Given the description of an element on the screen output the (x, y) to click on. 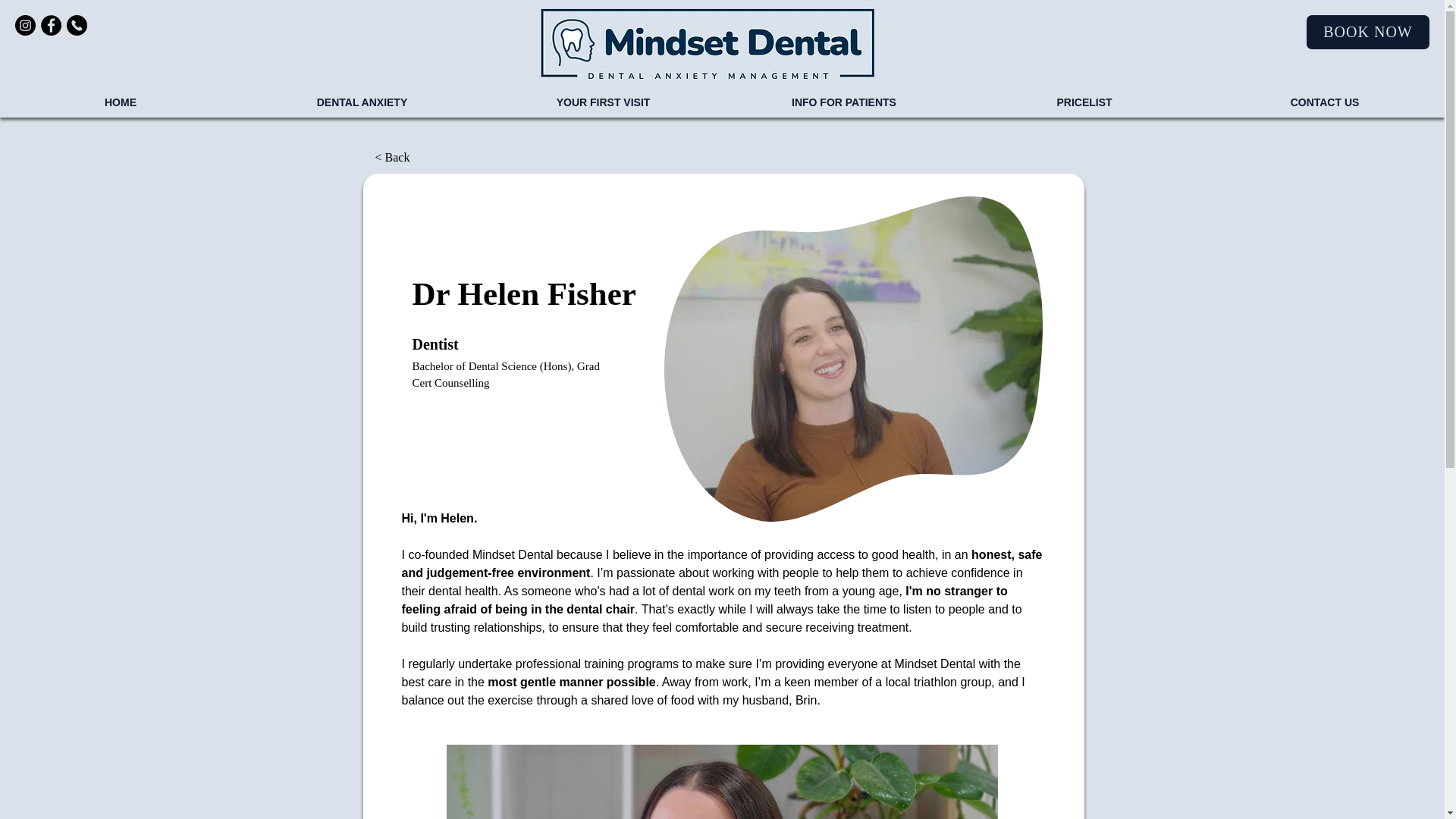
PRICELIST (1083, 101)
Home (707, 43)
Dr Helen Fisher (721, 781)
DENTAL ANXIETY (361, 101)
INFO FOR PATIENTS (843, 101)
BOOK NOW (1367, 32)
YOUR FIRST VISIT (602, 101)
HOME (120, 101)
